Given the description of an element on the screen output the (x, y) to click on. 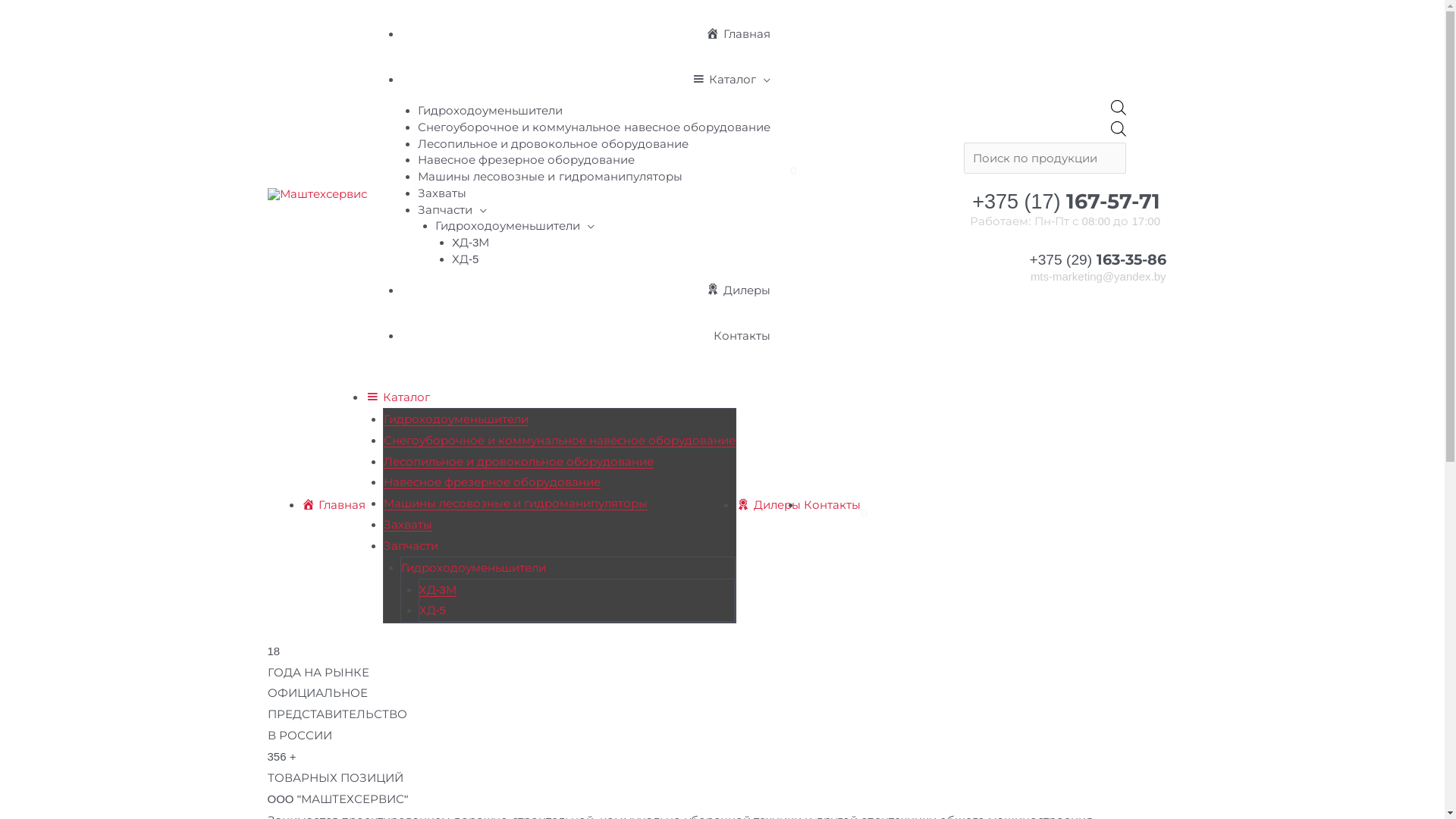
mts-marketing@yandex.by Element type: text (1089, 276)
0 Element type: text (791, 170)
0 Element type: text (863, 513)
